Given the description of an element on the screen output the (x, y) to click on. 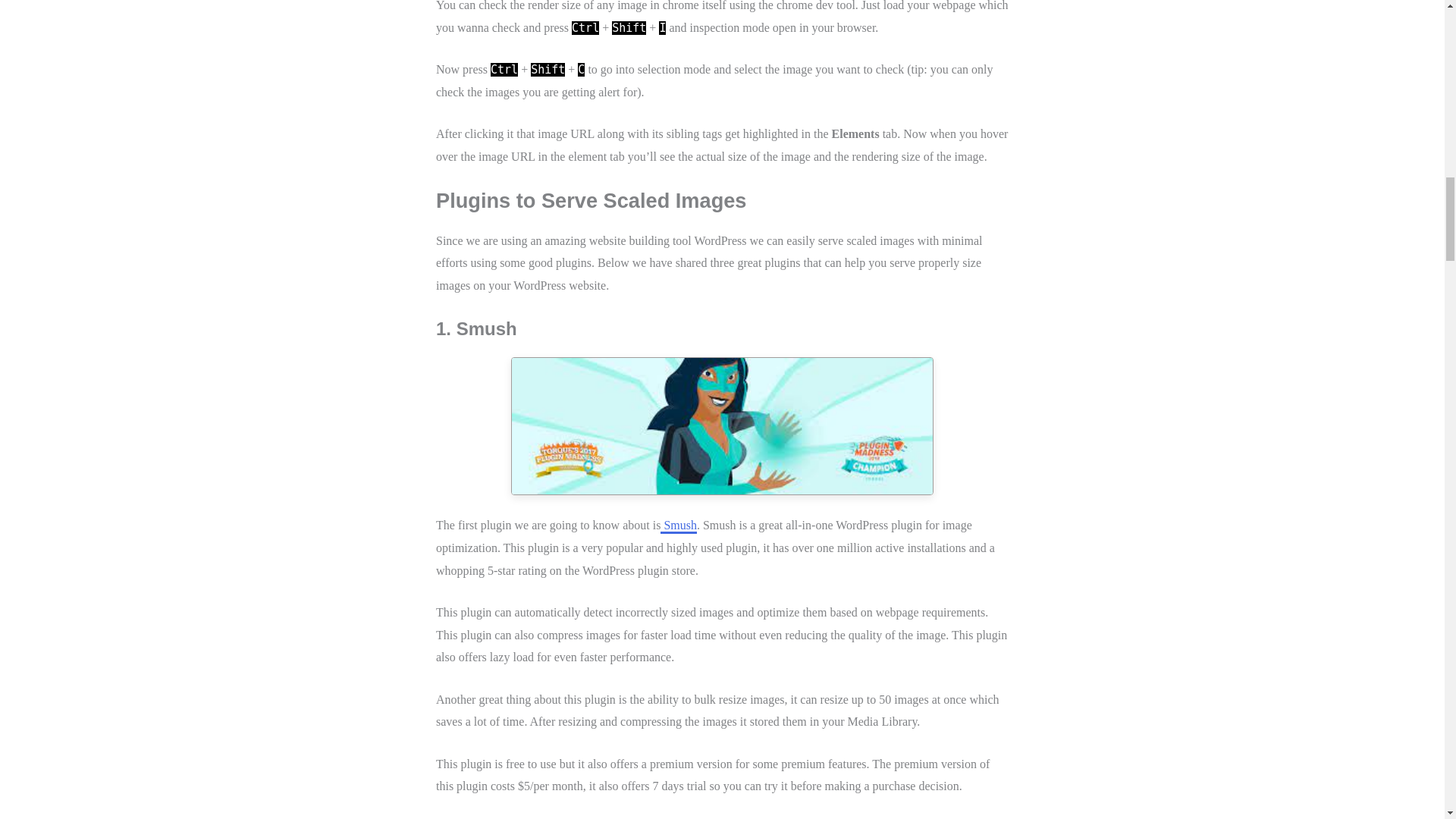
Smush (679, 525)
